Given the description of an element on the screen output the (x, y) to click on. 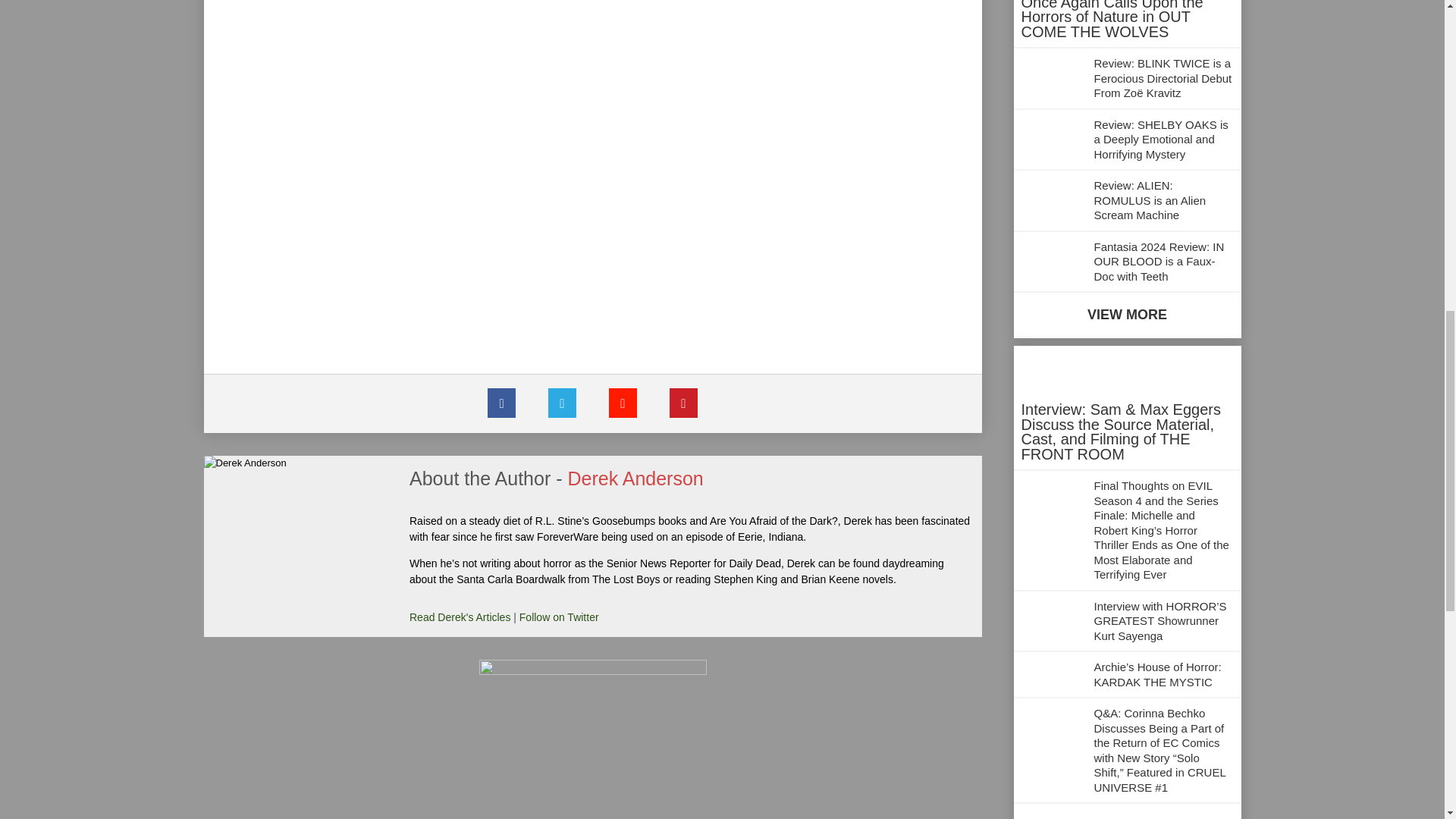
Share on Twitter (561, 403)
Share on Facebook (501, 403)
Post to Reddit (622, 403)
